Given the description of an element on the screen output the (x, y) to click on. 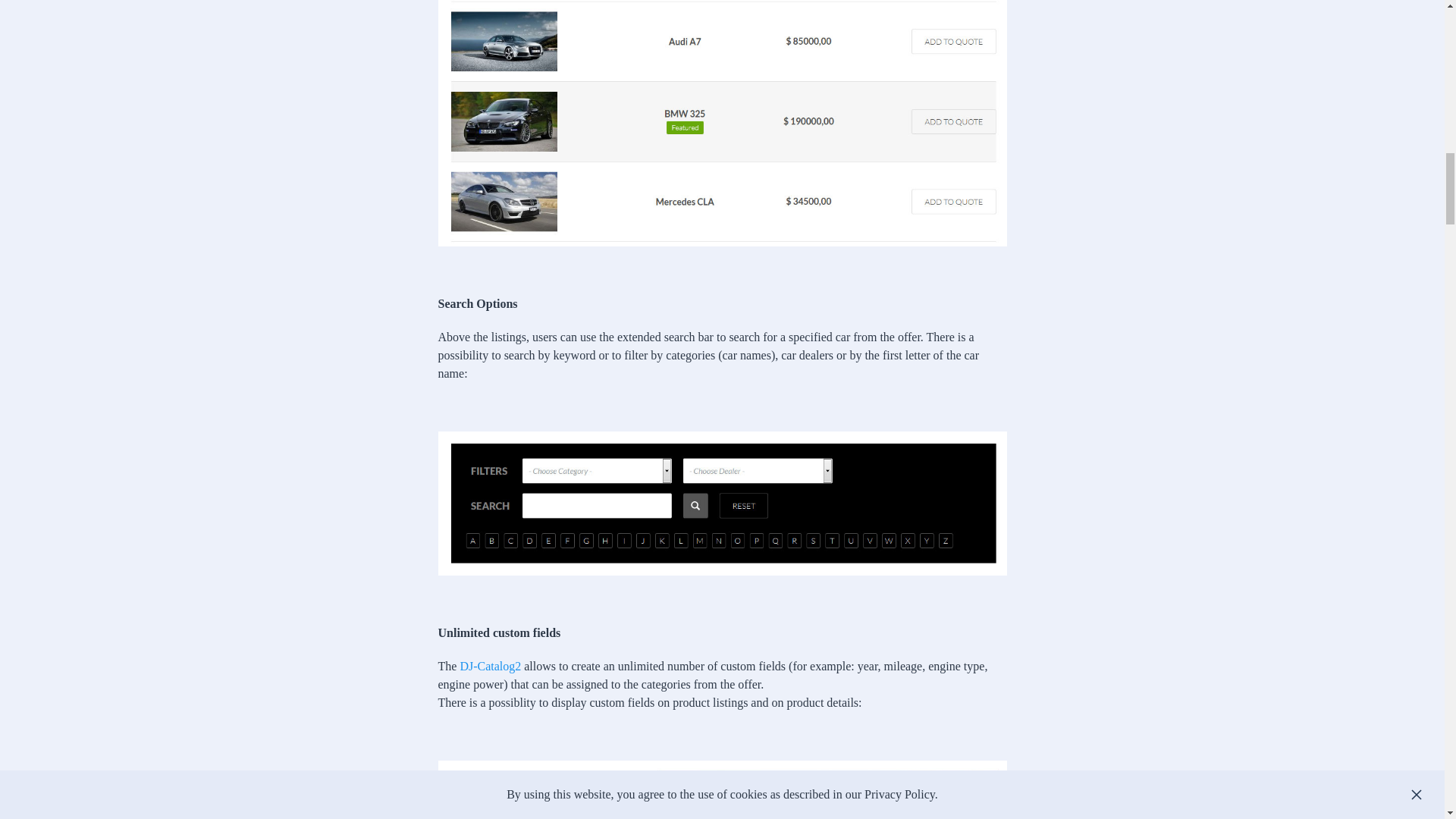
DJ-Catalog2 (490, 666)
DJ-Catalog2 (490, 666)
